Given the description of an element on the screen output the (x, y) to click on. 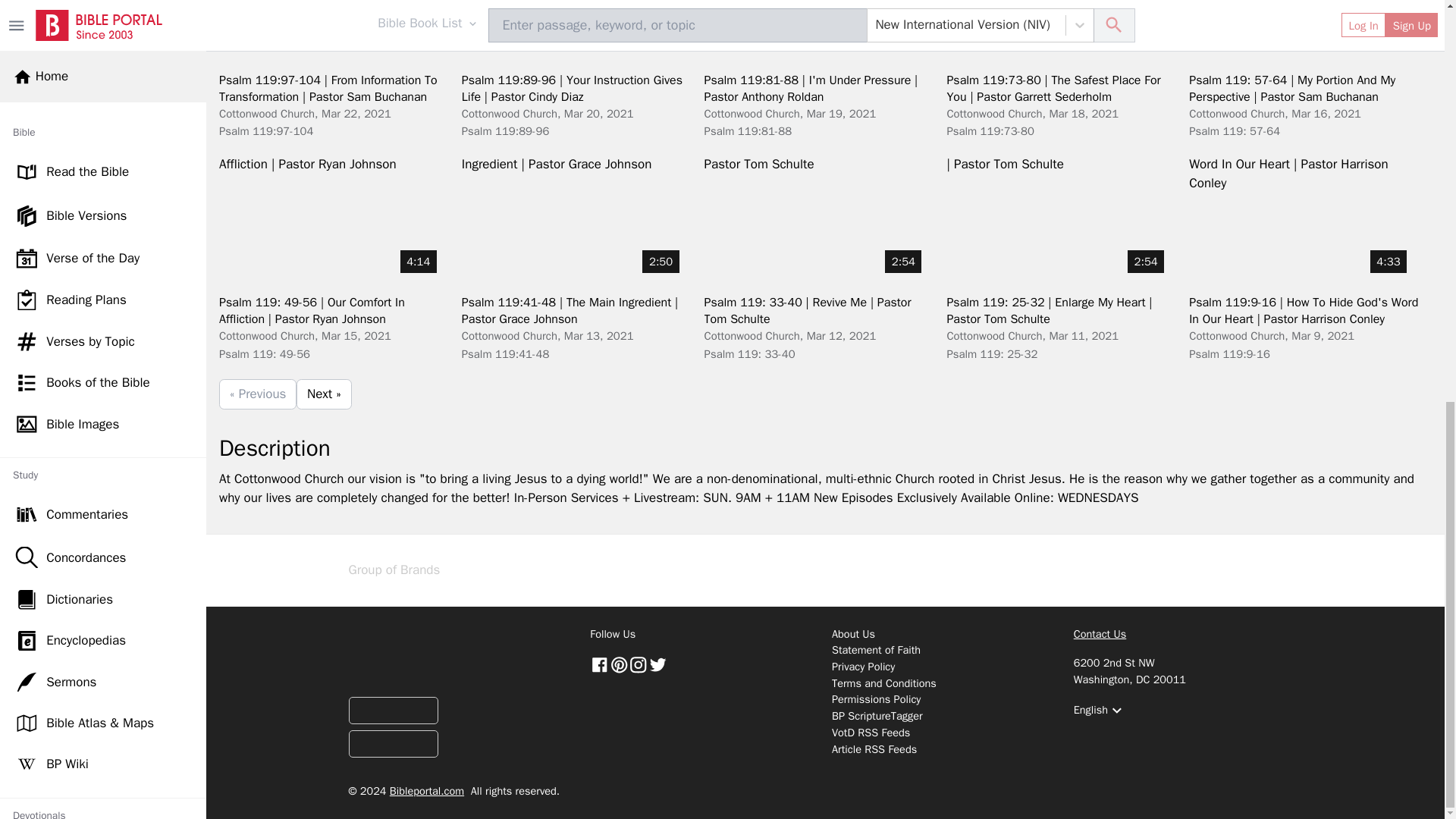
Bible by Genre (103, 569)
Bible Study (103, 404)
Saturday, March 20, 2021 at 9:00:08 PM (598, 113)
Picture Quotes (103, 279)
Community (103, 693)
Random Bible Verse (103, 652)
Daily Bread (103, 528)
Today's Devotionals (103, 65)
Tuesday, March 16, 2021 at 9:00:11 PM (1326, 113)
Inspirational Quotes (103, 189)
